Given the description of an element on the screen output the (x, y) to click on. 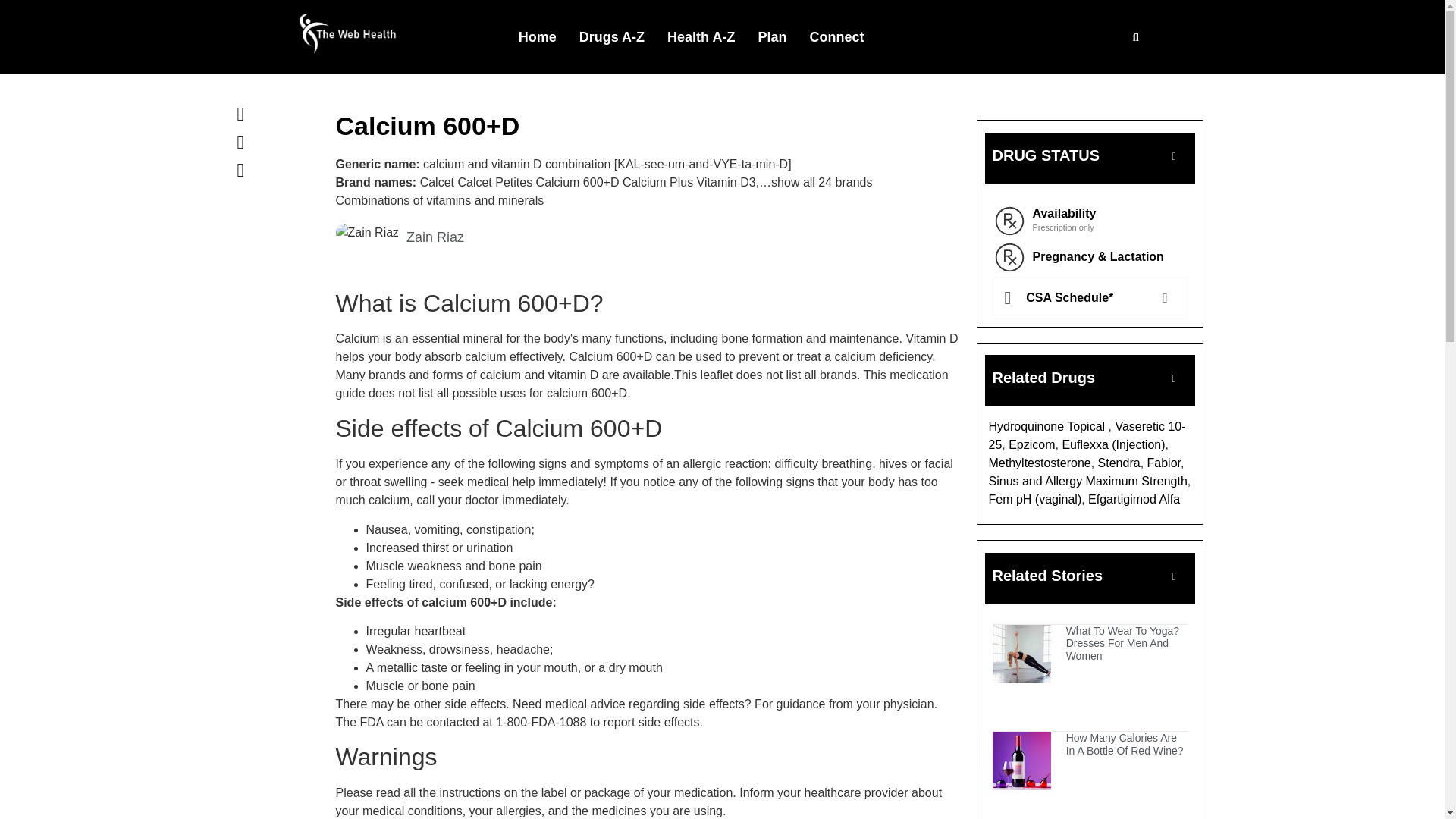
Efgartigimod Alfa (1133, 499)
Connect (836, 36)
What To Wear To Yoga? Dresses For Men And Women (1122, 643)
Sinus and Allergy Maximum Strength (1088, 481)
Home (536, 36)
Methyltestosterone (1039, 462)
Plan (771, 36)
Vaseretic 10-25 (1087, 435)
Stendra (1118, 462)
Health A-Z (700, 36)
